Given the description of an element on the screen output the (x, y) to click on. 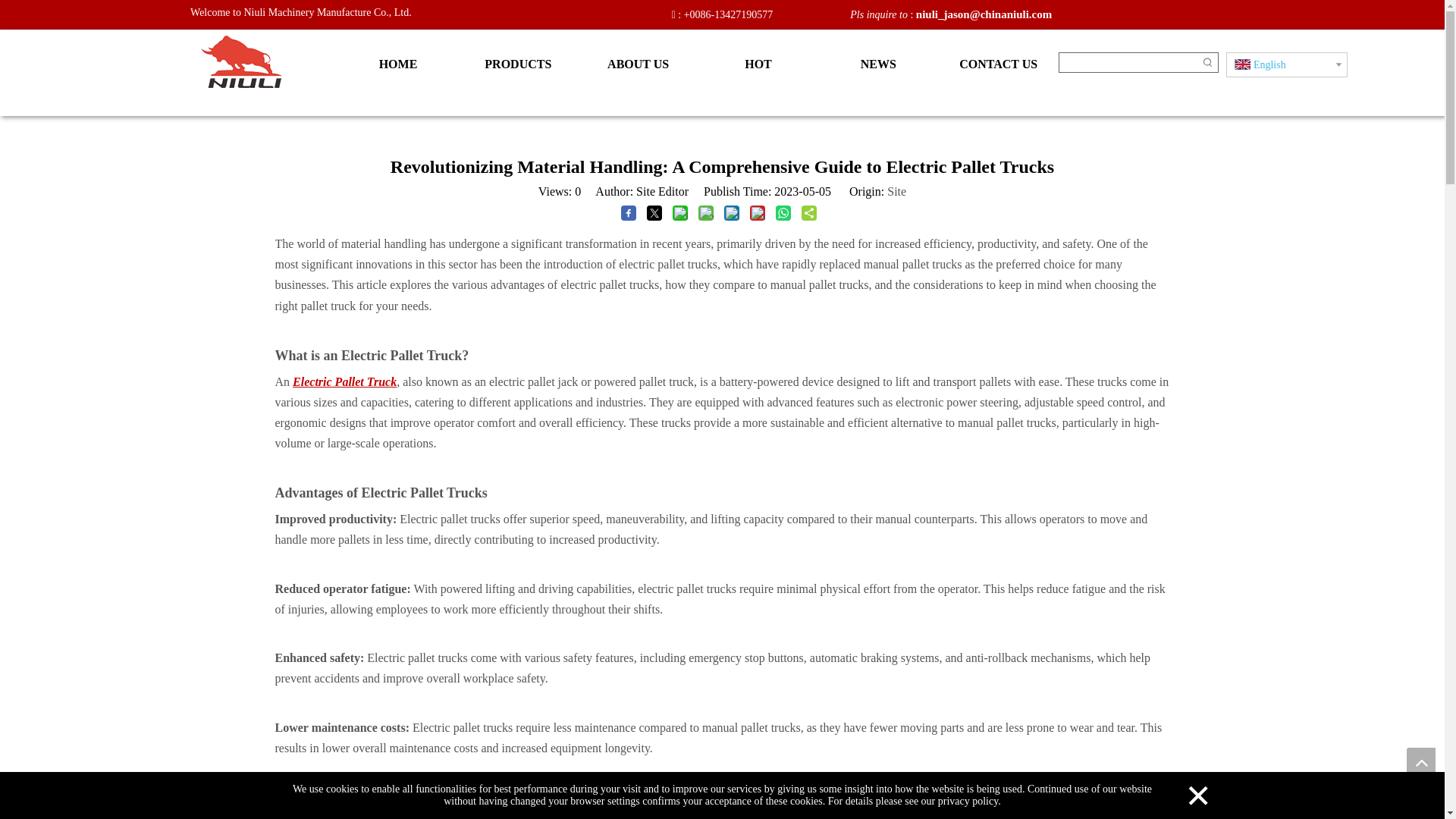
HOME (397, 63)
Youtube (1272, 15)
ELECTRIC FORKLIFT (239, 61)
Linkedin (1246, 15)
HOT (758, 63)
ELECTRIC PALLET TRUCK (722, 814)
NEWS (877, 63)
PRODUCTS (518, 63)
CONTACT US (997, 63)
Facebook (1220, 15)
